Given the description of an element on the screen output the (x, y) to click on. 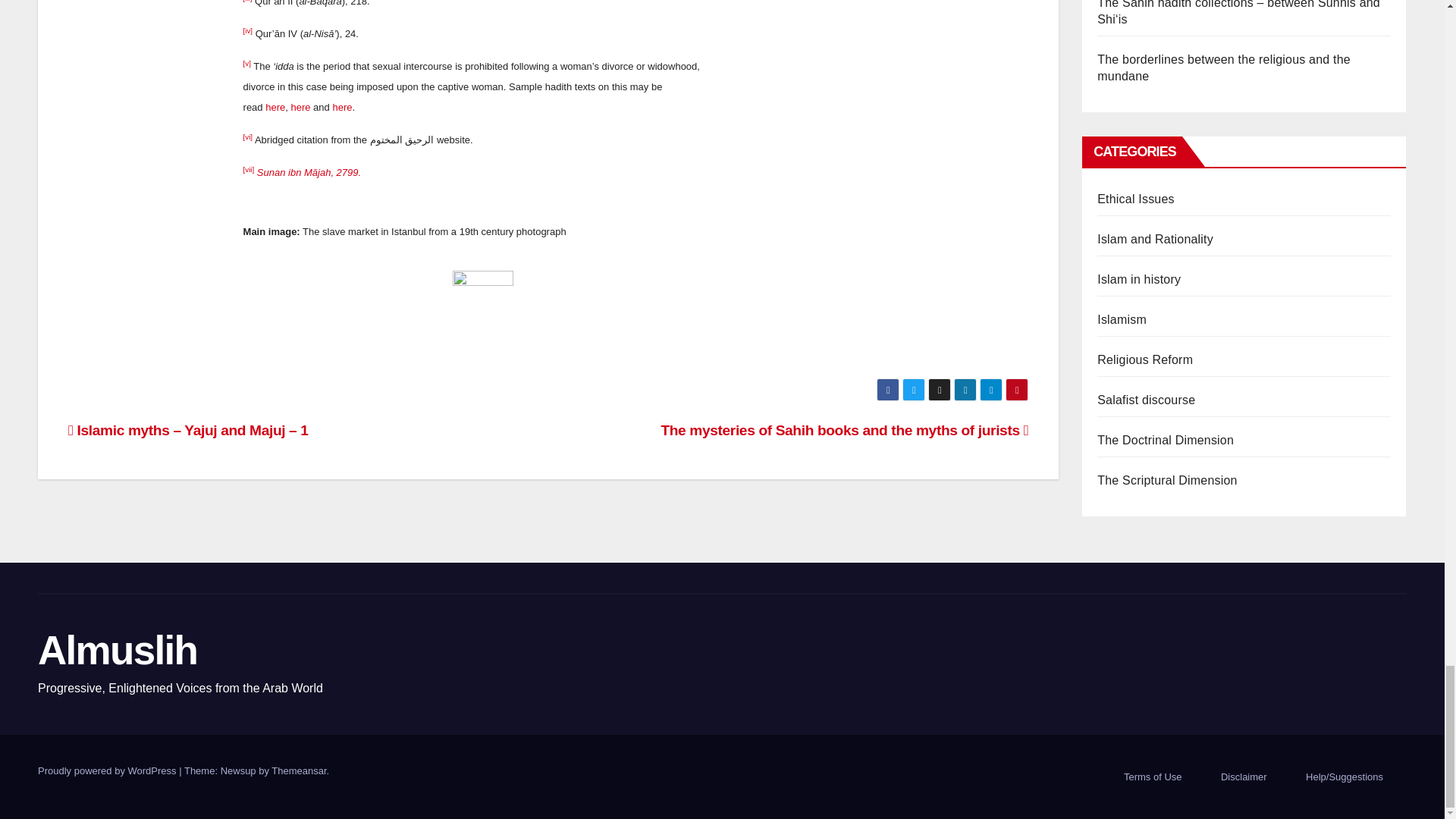
here (299, 107)
Terms of Use (1152, 776)
Disclaimer (1243, 776)
here (341, 107)
here (274, 107)
